Given the description of an element on the screen output the (x, y) to click on. 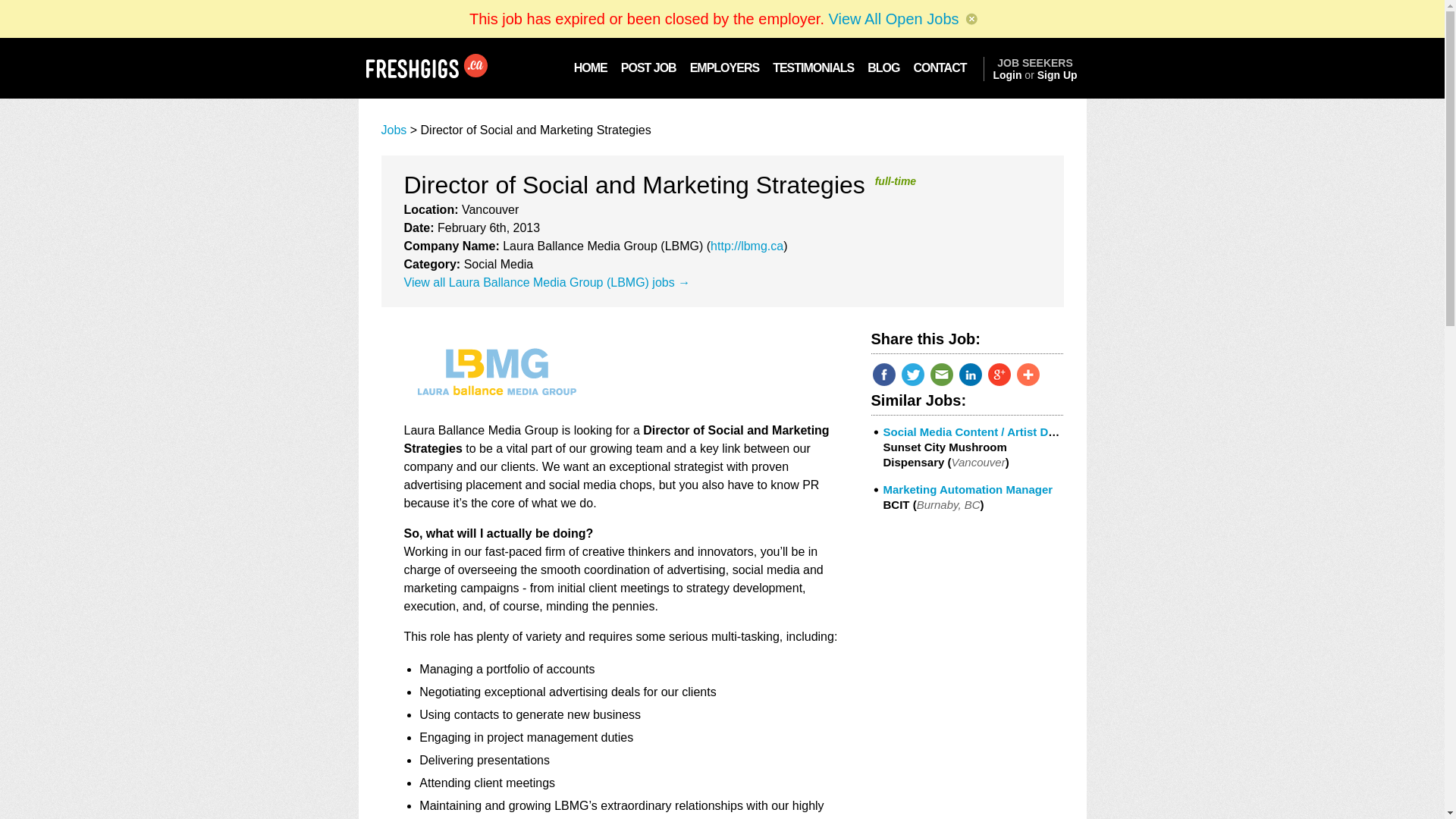
Login (1007, 74)
EMPLOYERS (723, 67)
TESTIMONIALS (812, 67)
Jobs (393, 129)
POST JOB (648, 67)
Marketing Automation Manager (967, 489)
Sign Up (1056, 74)
View All Open Jobs (893, 18)
CONTACT (943, 67)
